Given the description of an element on the screen output the (x, y) to click on. 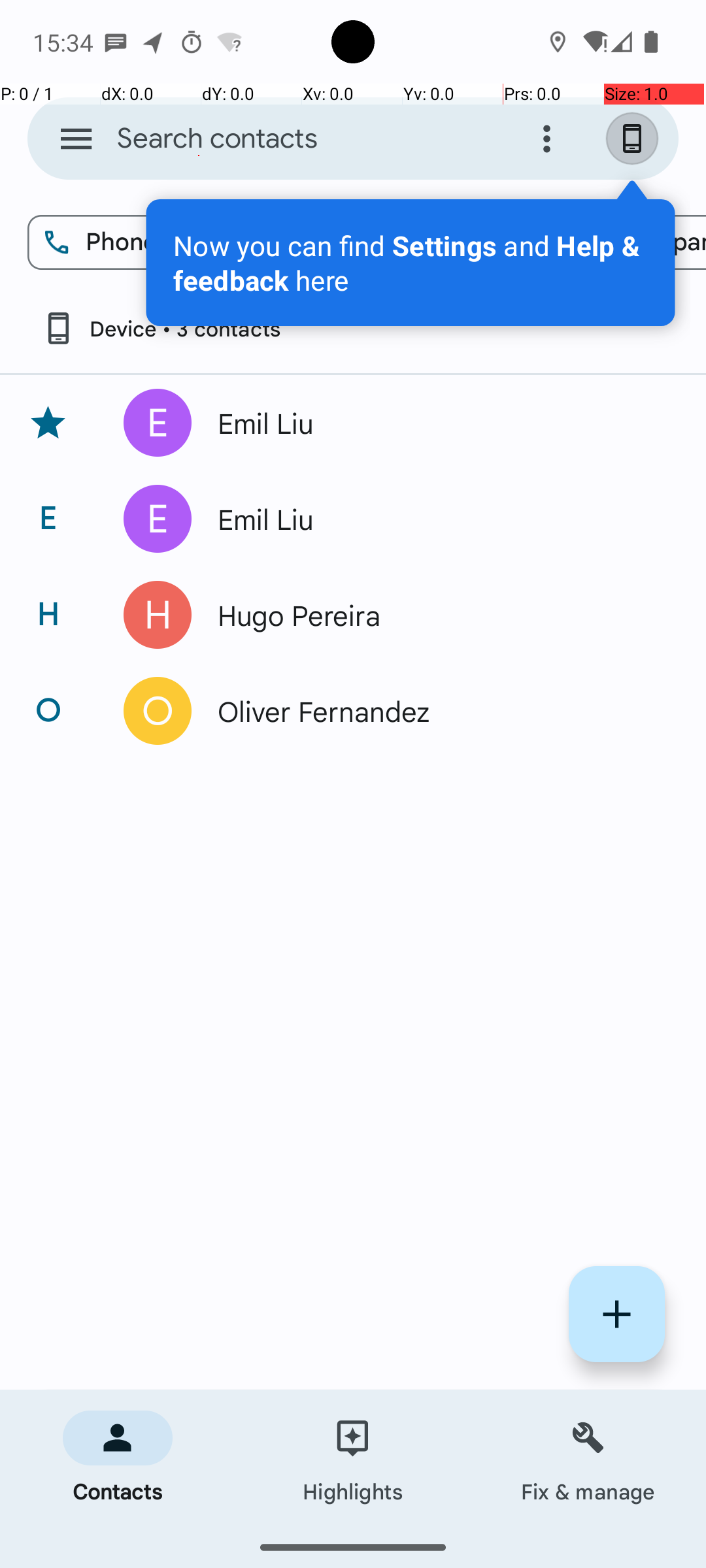
Device • 3 contacts Element type: android.widget.TextView (161, 328)
Emil Liu Element type: android.widget.TextView (434, 422)
Hugo Pereira Element type: android.widget.TextView (434, 614)
Oliver Fernandez Element type: android.widget.TextView (434, 710)
